Given the description of an element on the screen output the (x, y) to click on. 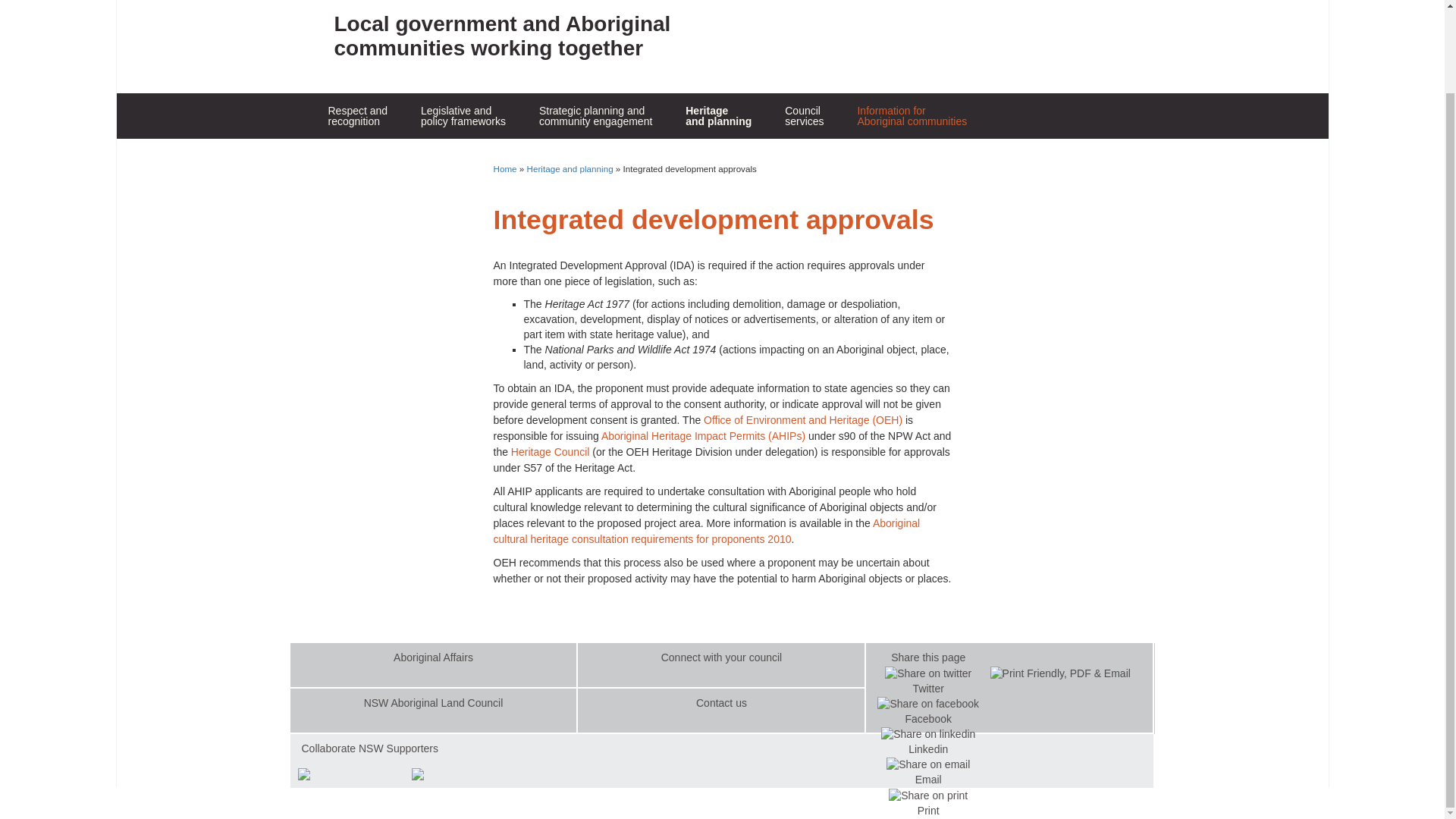
facebook (804, 116)
Stand for your community (927, 703)
Twitter (595, 116)
Facebook (915, 154)
email (463, 116)
